Given the description of an element on the screen output the (x, y) to click on. 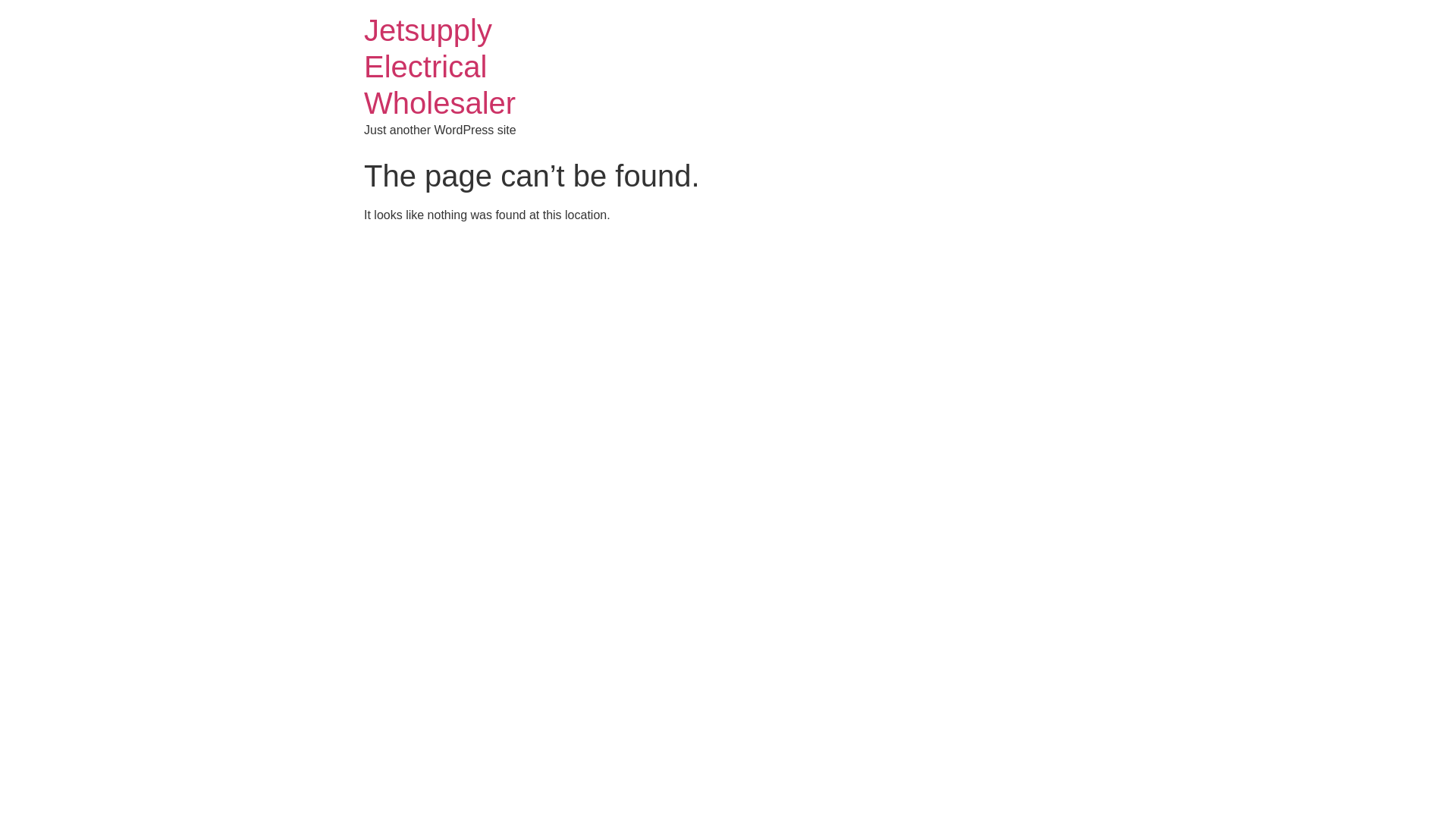
Jetsupply Electrical Wholesaler Element type: text (439, 66)
